Given the description of an element on the screen output the (x, y) to click on. 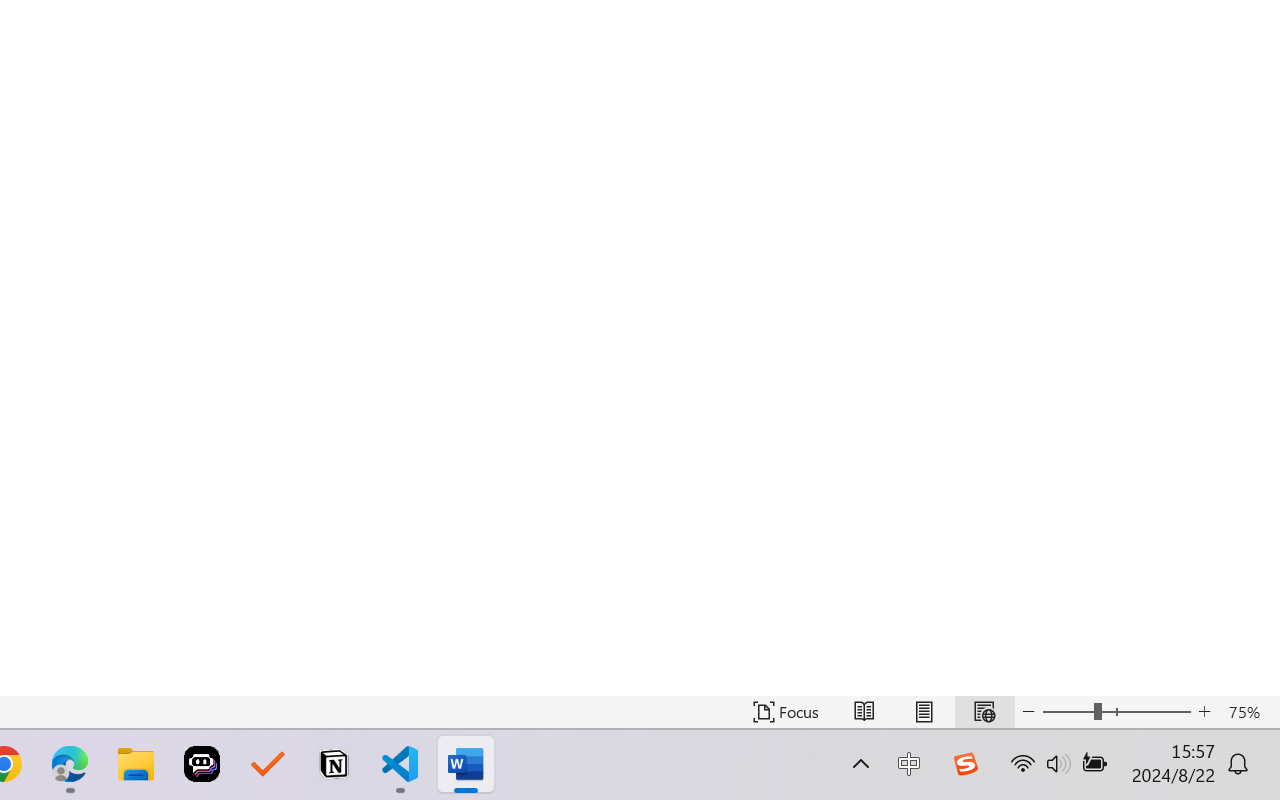
Print Layout (924, 712)
Zoom In (1204, 712)
Zoom 75% (1249, 712)
Class: Image (965, 764)
Zoom (1116, 712)
Focus  (786, 712)
Zoom Out (1067, 712)
Read Mode (864, 712)
Web Layout (984, 712)
